Given the description of an element on the screen output the (x, y) to click on. 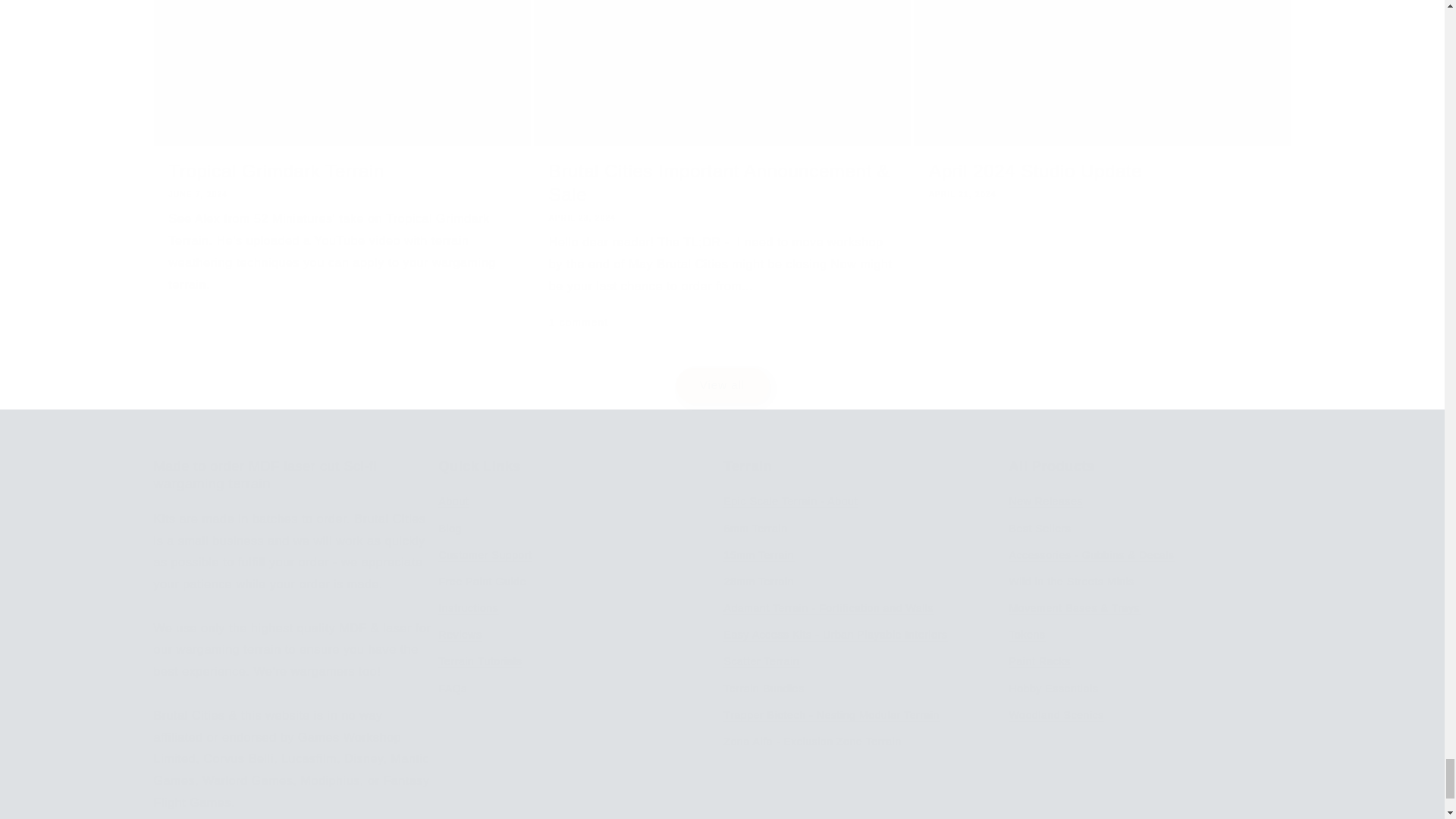
View all (721, 366)
